Given the description of an element on the screen output the (x, y) to click on. 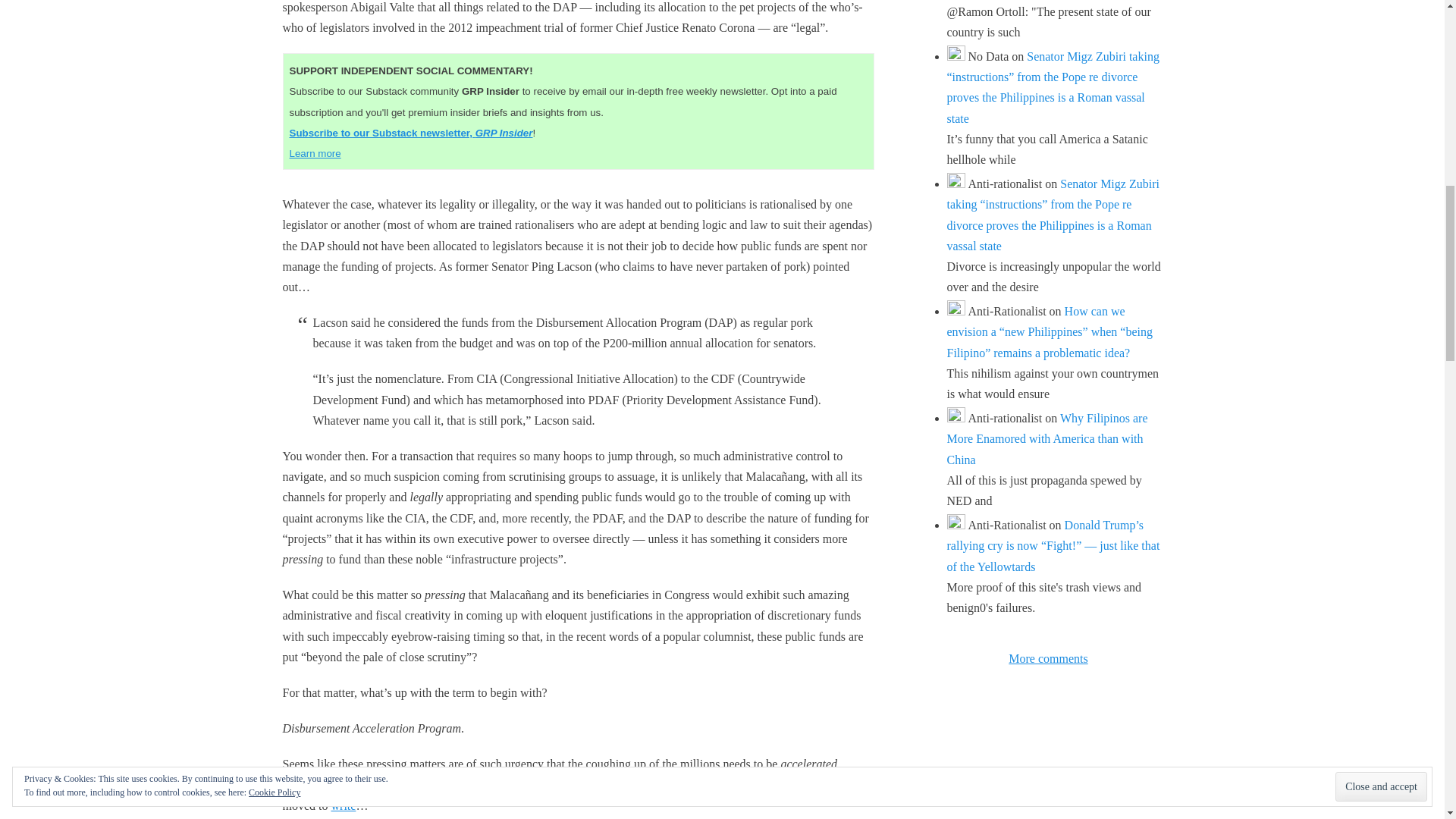
write (342, 805)
Subscribe to our Substack newsletter, GRP Insider (410, 132)
Learn more (314, 153)
